Given the description of an element on the screen output the (x, y) to click on. 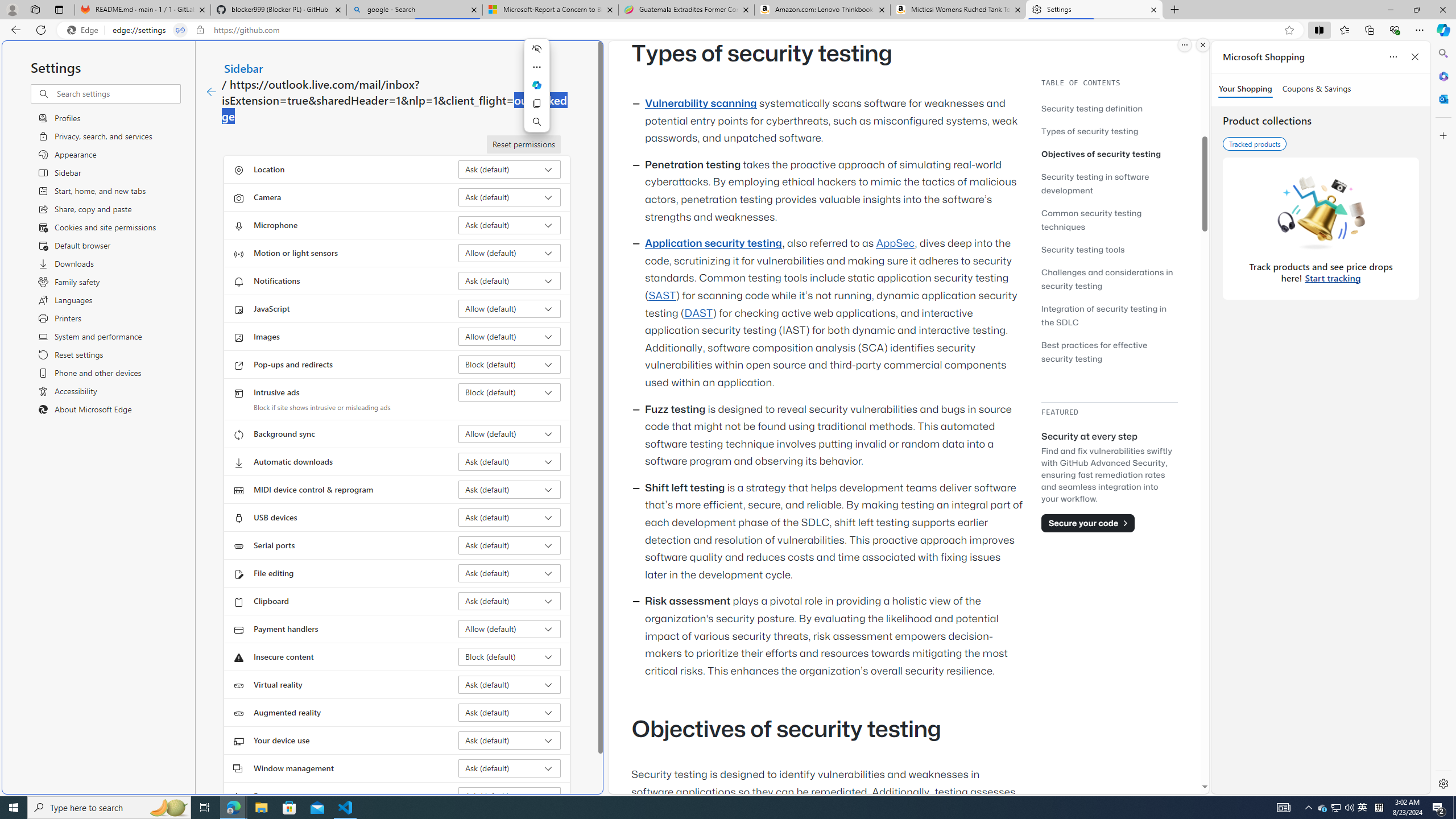
USB devices Ask (default) (509, 517)
Search settings (117, 93)
JavaScript Allow (default) (509, 308)
Challenges and considerations in security testing (1107, 278)
Serial ports Ask (default) (509, 545)
More actions (536, 67)
Automatic downloads Ask (default) (509, 461)
Ask Copilot (536, 85)
Close split screen. (1202, 45)
